Given the description of an element on the screen output the (x, y) to click on. 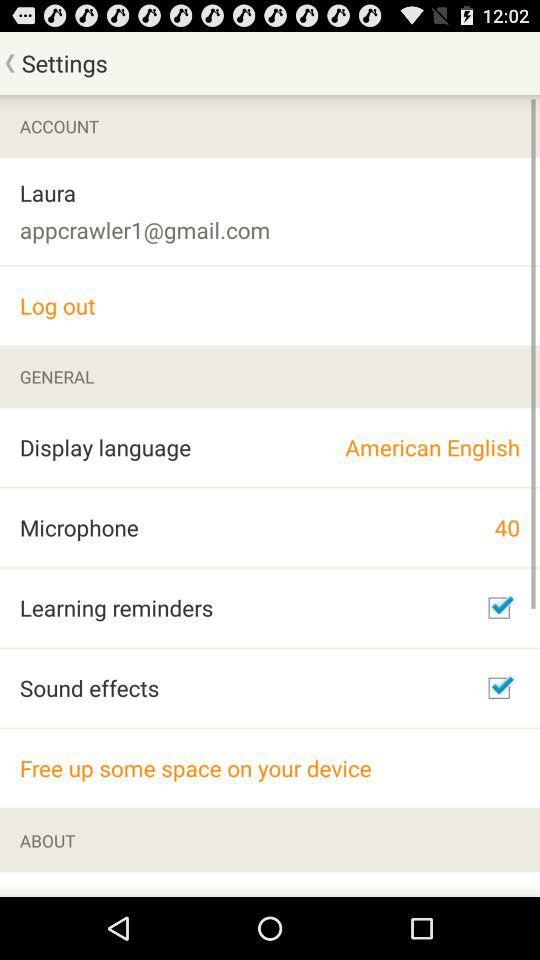
toggle reminders option (499, 607)
